Given the description of an element on the screen output the (x, y) to click on. 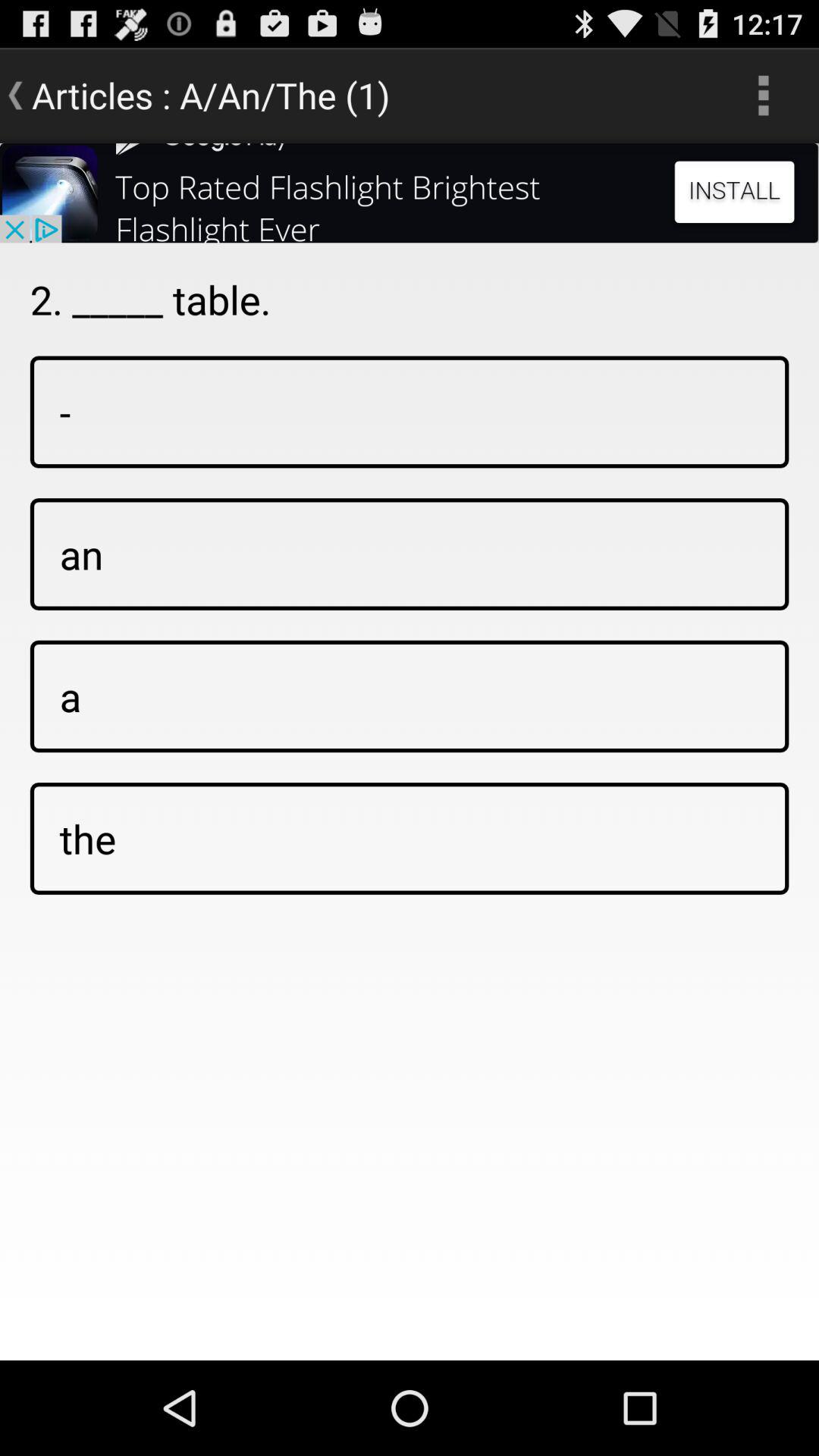
click install (409, 192)
